Given the description of an element on the screen output the (x, y) to click on. 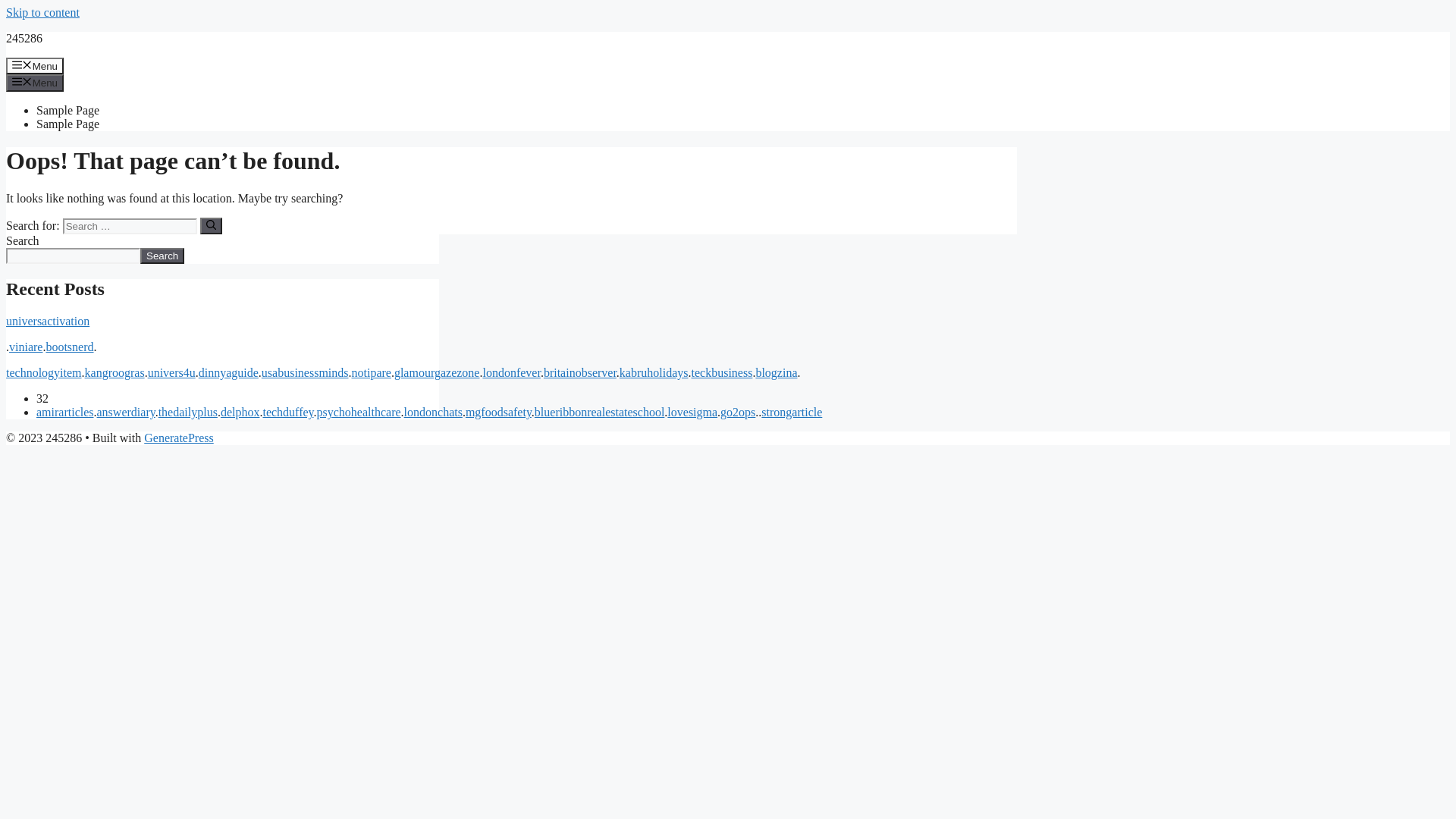
blueribbonrealestateschool Element type: text (599, 411)
Sample Page Element type: text (67, 123)
universactivation Element type: text (47, 320)
strongarticle Element type: text (791, 411)
Search for: Element type: hover (129, 226)
answerdiary Element type: text (126, 411)
britainobserver Element type: text (579, 372)
londonfever Element type: text (510, 372)
univers4u Element type: text (171, 372)
Search Element type: text (162, 255)
245286 Element type: text (24, 37)
technologyitem Element type: text (43, 372)
Skip to content Element type: text (42, 12)
dinnyaguide Element type: text (228, 372)
thedailyplus Element type: text (187, 411)
viniare Element type: text (25, 346)
glamourgazezone Element type: text (437, 372)
go2ops Element type: text (737, 411)
kangroogras Element type: text (114, 372)
usabusinessminds Element type: text (304, 372)
Sample Page Element type: text (67, 109)
delphox Element type: text (240, 411)
londonchats Element type: text (433, 411)
bootsnerd Element type: text (69, 346)
Menu Element type: text (34, 65)
techduffey Element type: text (287, 411)
Menu Element type: text (34, 82)
kabruholidays Element type: text (653, 372)
notipare Element type: text (371, 372)
mgfoodsafety Element type: text (498, 411)
amirarticles Element type: text (65, 411)
psychohealthcare Element type: text (358, 411)
blogzina Element type: text (776, 372)
teckbusiness Element type: text (722, 372)
GeneratePress Element type: text (178, 437)
lovesigma Element type: text (692, 411)
